Given the description of an element on the screen output the (x, y) to click on. 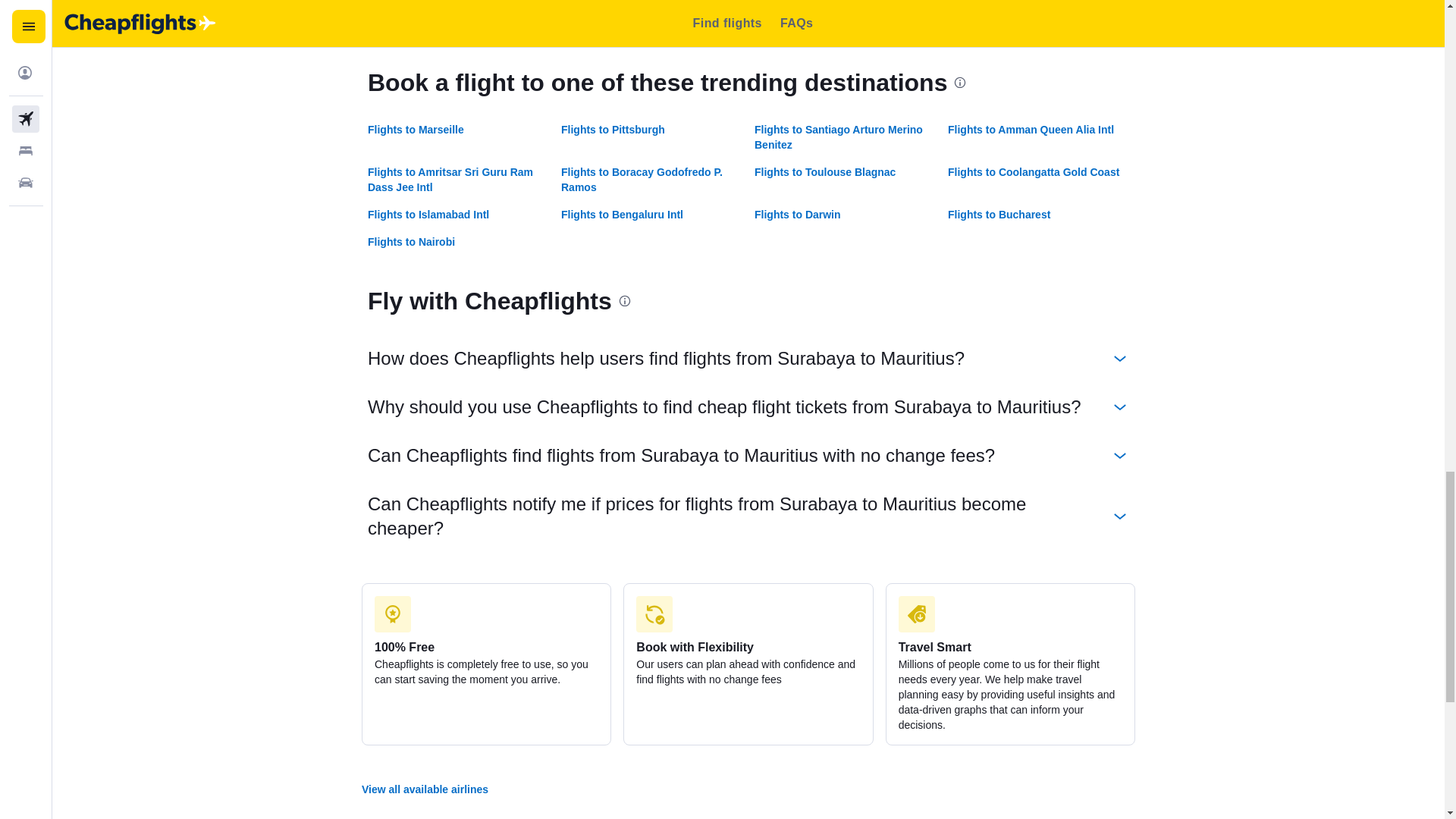
Prem Econ Class (411, 23)
First Class (395, 1)
Economy class (792, 23)
Flights to Pittsburgh (612, 129)
Flights to Marseille (416, 129)
Business Class (793, 1)
